Given the description of an element on the screen output the (x, y) to click on. 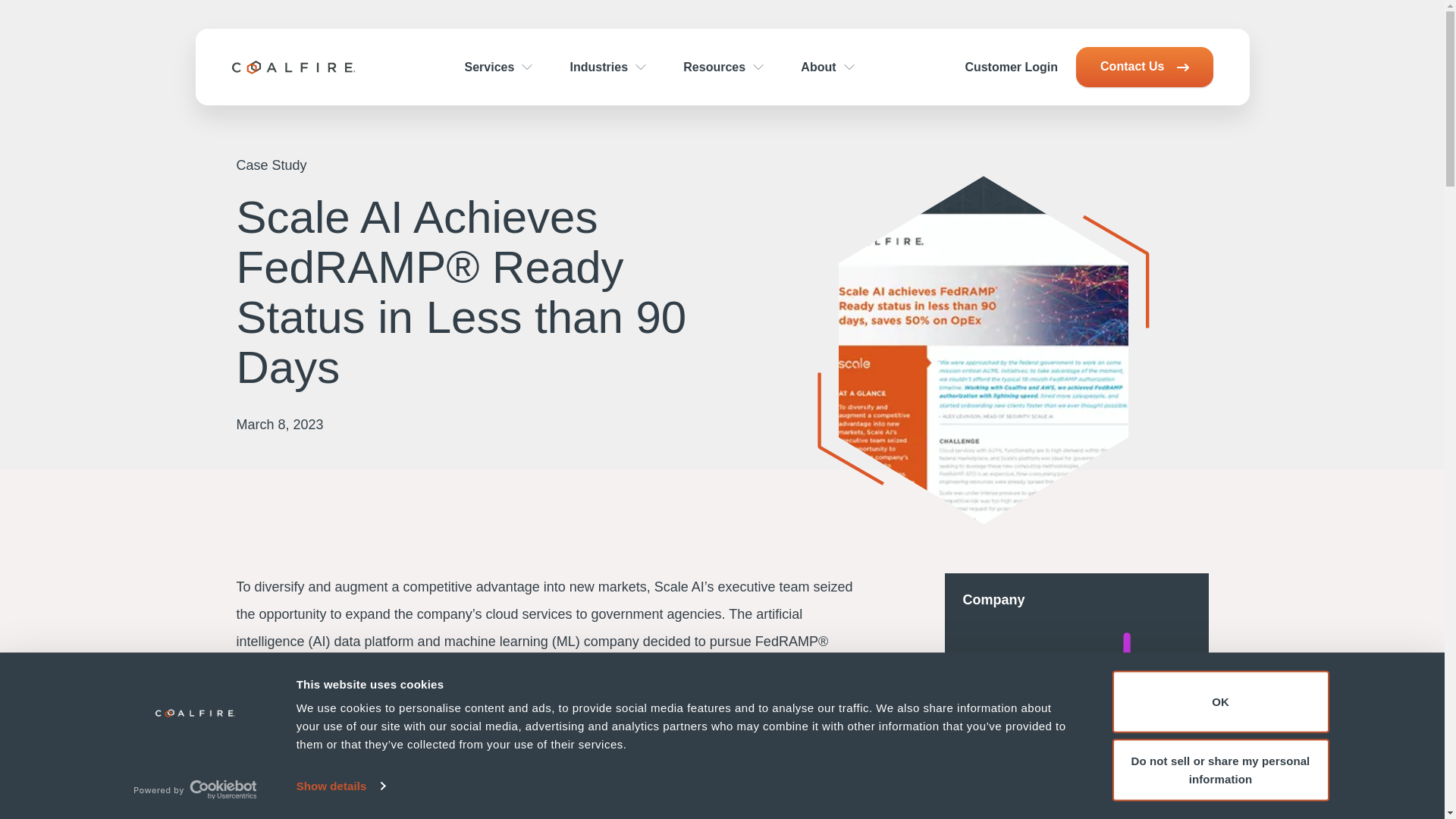
Show details (340, 785)
